Given the description of an element on the screen output the (x, y) to click on. 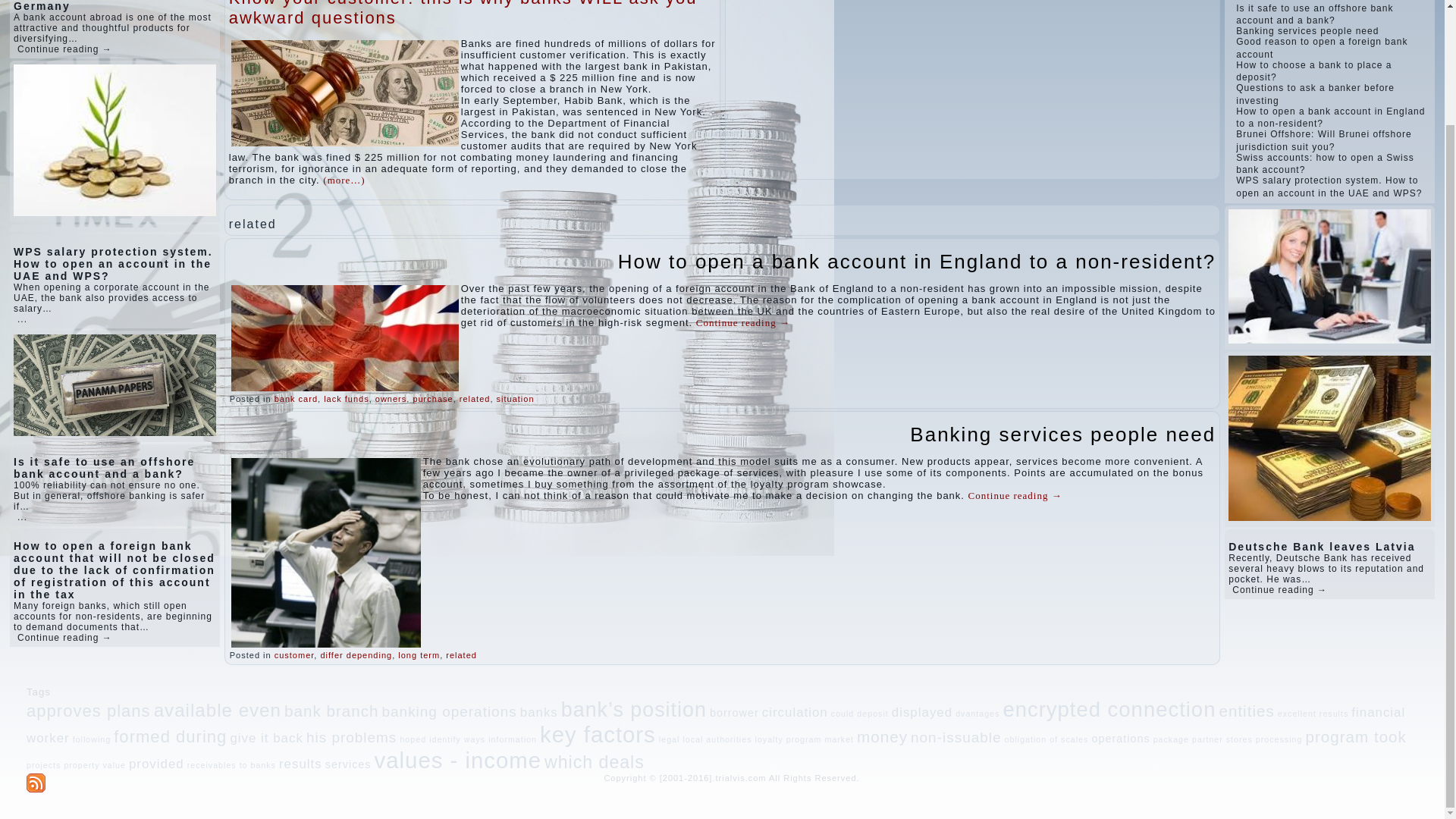
Is it safe to use an offshore bank account and a bank? (1314, 14)
customer (294, 655)
purchase (432, 398)
bank card (296, 398)
Good reason to open a foreign bank account (1321, 47)
differ depending (355, 655)
Banking services people need (1062, 434)
How to open a bank account in England to a non-resident? (916, 261)
Good reason to open a foreign bank account (1321, 47)
Banking services people need (1062, 434)
lack funds (346, 398)
related (475, 398)
